Given the description of an element on the screen output the (x, y) to click on. 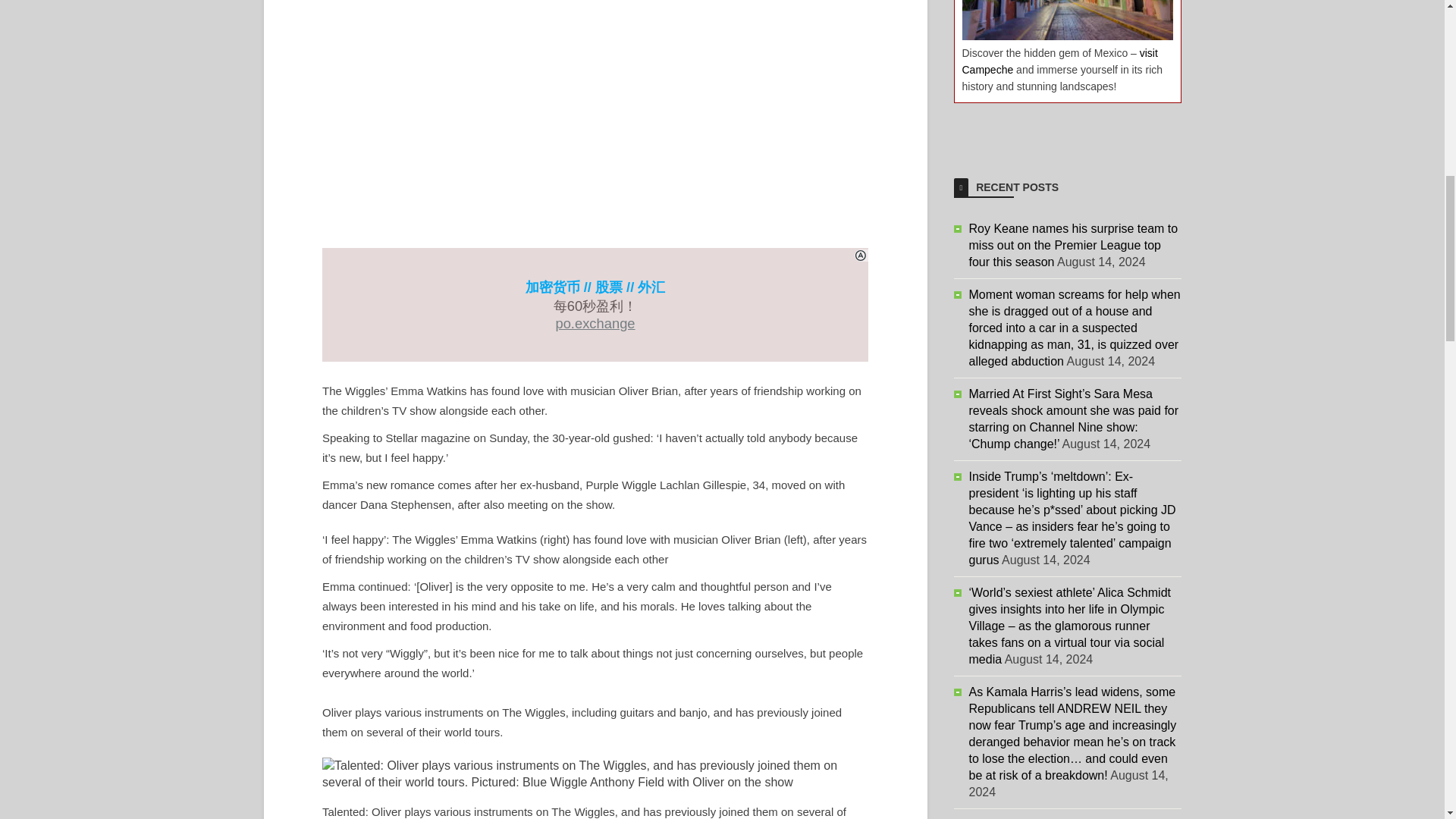
visit Campeche (1058, 61)
